Given the description of an element on the screen output the (x, y) to click on. 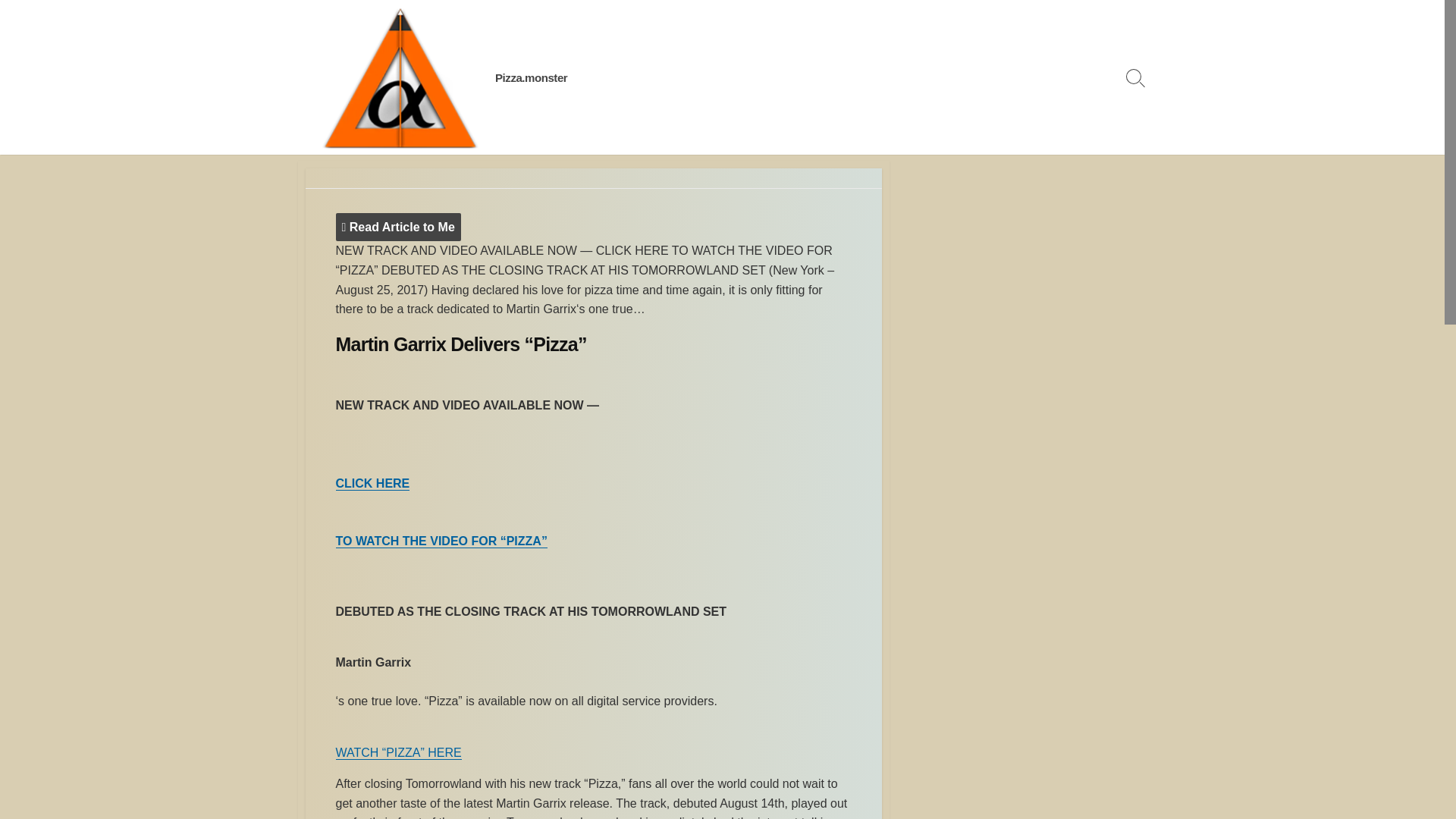
Pizza.monster (531, 77)
Pizza.monster (531, 77)
Pizza.monster (399, 77)
